Given the description of an element on the screen output the (x, y) to click on. 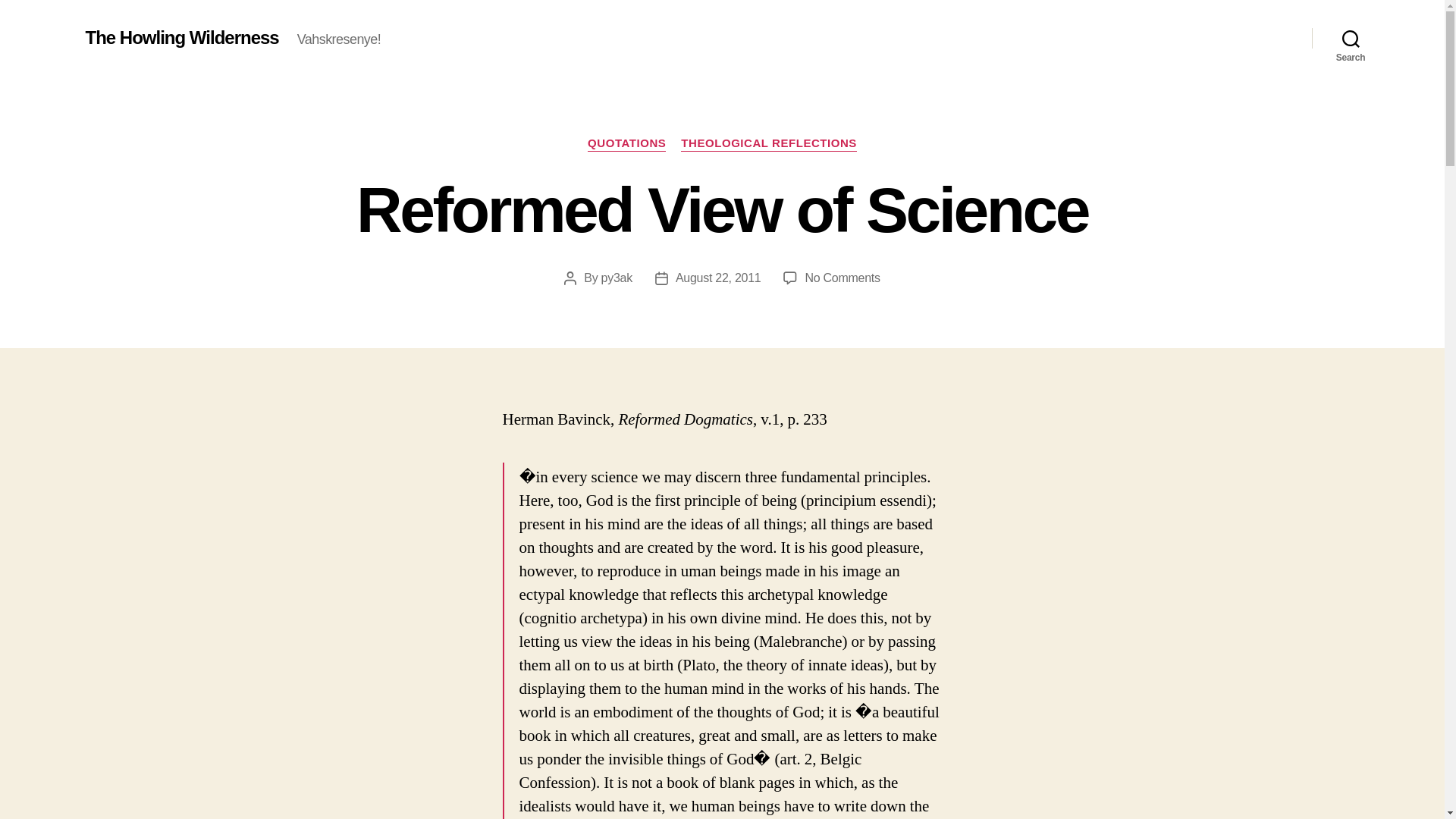
The Howling Wilderness (181, 37)
August 22, 2011 (718, 277)
Search (1350, 37)
QUOTATIONS (626, 143)
THEOLOGICAL REFLECTIONS (769, 143)
py3ak (842, 277)
